Given the description of an element on the screen output the (x, y) to click on. 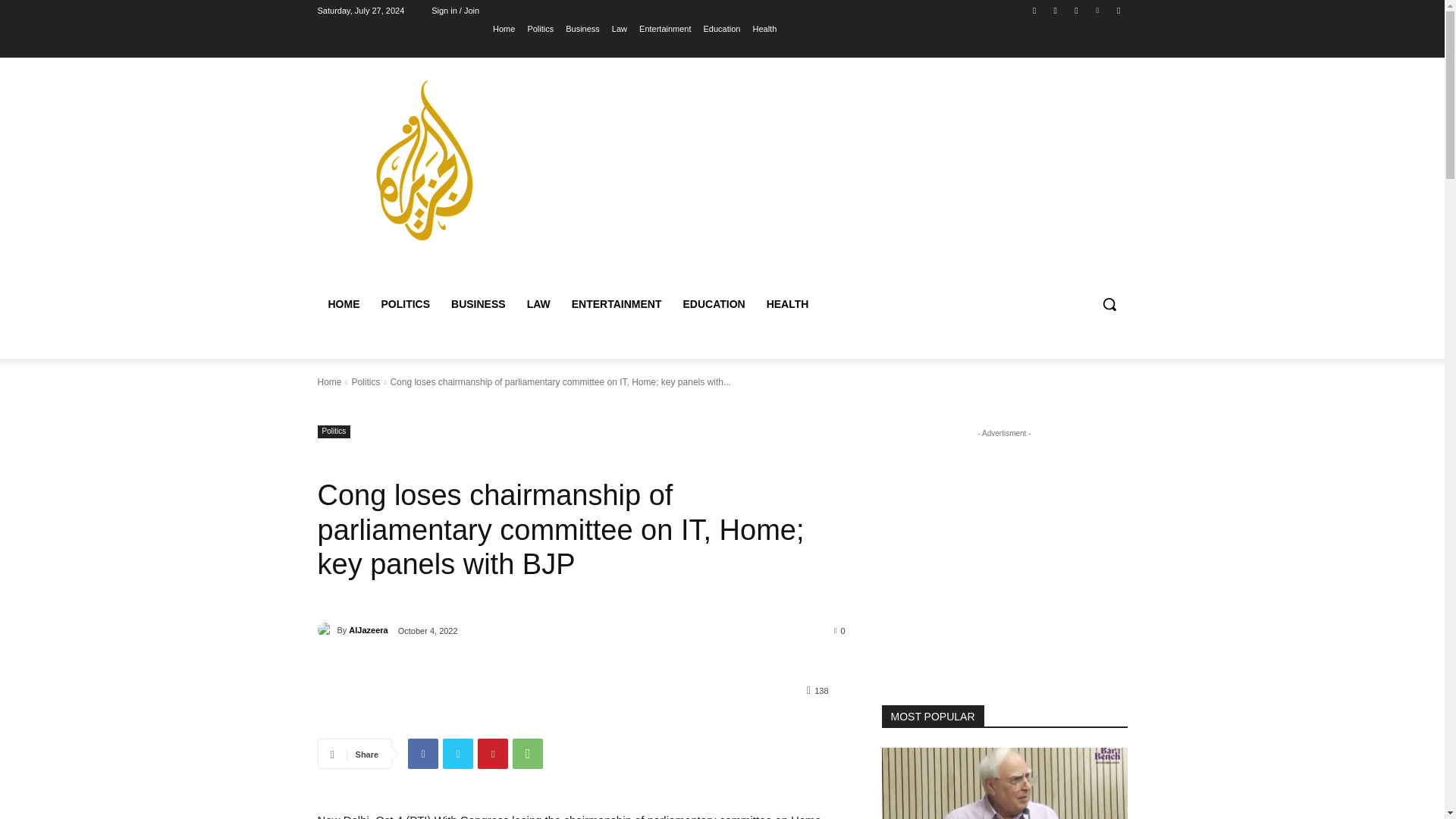
Politics (333, 431)
POLITICS (405, 303)
Politics (365, 381)
WhatsApp (527, 753)
LAW (538, 303)
0 (839, 629)
Health (764, 28)
Instagram (1055, 9)
Home (328, 381)
Youtube (1117, 9)
Politics (540, 28)
Law (619, 28)
ENTERTAINMENT (616, 303)
AlJazeera (326, 630)
HOME (343, 303)
